Given the description of an element on the screen output the (x, y) to click on. 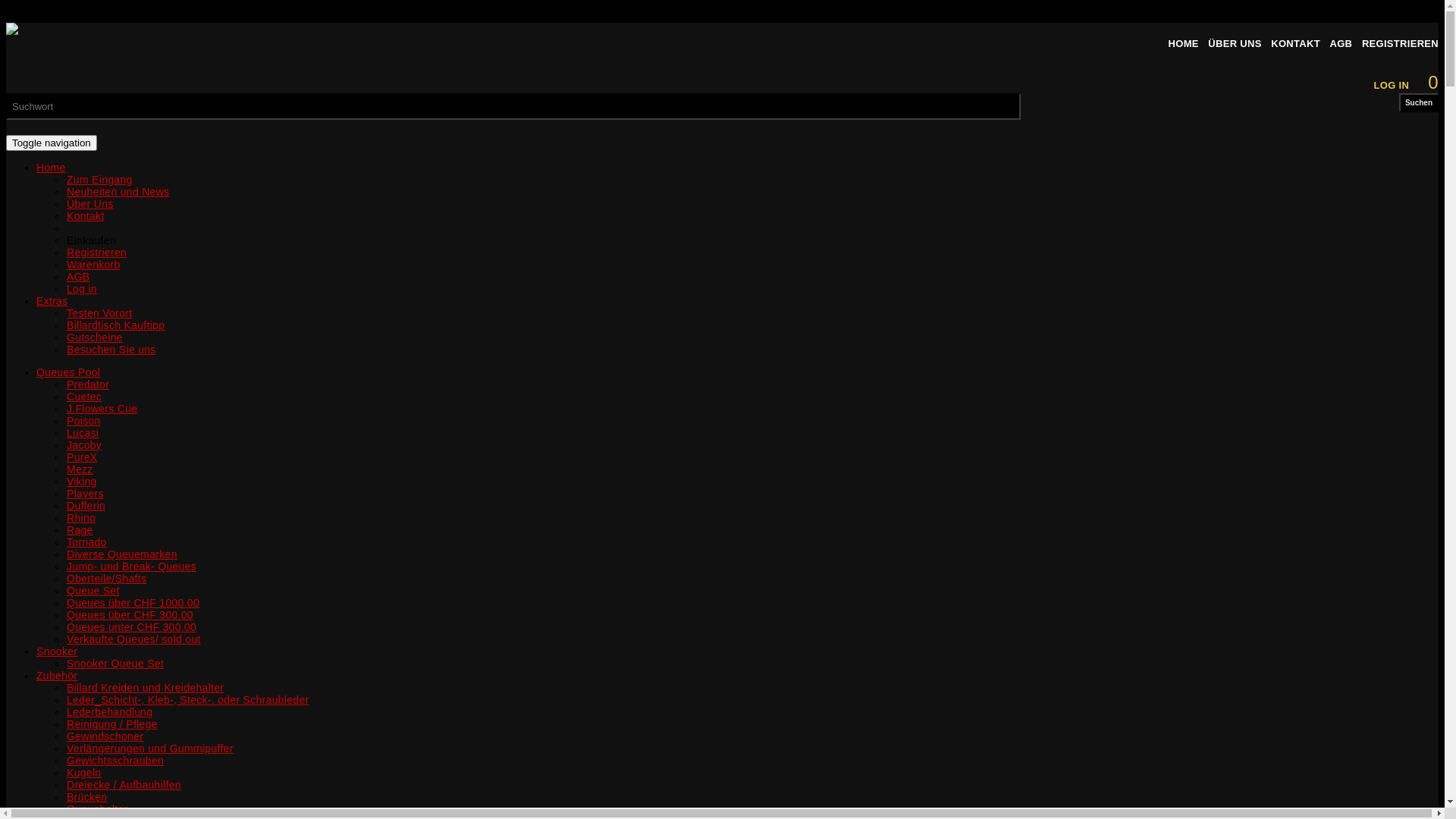
Predator Element type: text (87, 384)
Leder_Schicht-, Kleb-, Steck-. oder Schraubleder Element type: text (187, 699)
Kontakt Element type: text (85, 216)
Poison Element type: text (83, 420)
Cuetec Element type: text (83, 396)
Snooker Queue Set Element type: text (114, 663)
Rage Element type: text (79, 530)
Snooker Element type: text (56, 651)
Gewichtsschrauben Element type: text (114, 760)
Mezz Element type: text (79, 469)
Verkaufte Queues/ sold out Element type: text (133, 639)
Registrieren Element type: text (96, 252)
Billardtisch Kauftipp Element type: text (115, 325)
Queues Pool Element type: text (68, 372)
Diverse Queuemarken Element type: text (121, 554)
Dreiecke / Aufbauhilfen Element type: text (123, 784)
Queue Set Element type: text (92, 590)
Kugeln Element type: text (83, 772)
Players Element type: text (84, 493)
Jacoby Element type: text (83, 445)
Rhino Element type: text (80, 517)
Jump- und Break- Queues Element type: text (131, 566)
KONTAKT Element type: text (1295, 43)
Zum Eingang Element type: text (99, 179)
Neuheiten und News Element type: text (117, 191)
J.Flowers Cue Element type: text (101, 408)
Gutscheine Element type: text (94, 337)
0 Element type: text (1432, 82)
AGB Element type: text (1341, 43)
Lucasi Element type: text (82, 432)
Log in Element type: text (81, 288)
Gewindschoner Element type: text (104, 736)
Warenkorb Element type: text (93, 264)
Tornado Element type: text (86, 542)
Lederbehandlung Element type: text (109, 712)
LOG IN Element type: text (1391, 85)
PureX Element type: text (81, 457)
AGB Element type: text (77, 276)
Queues unter CHF 300.00 Element type: text (131, 627)
Toggle navigation Element type: text (51, 142)
Viking Element type: text (81, 481)
Billard Kreiden und Kreidehalter Element type: text (144, 687)
Queuehalter Element type: text (96, 809)
Suchen Element type: text (1418, 102)
Home Element type: text (50, 167)
Reinigung / Pflege Element type: text (111, 724)
Extras Element type: text (51, 300)
Testen Vorort Element type: text (98, 313)
REGISTRIEREN Element type: text (1399, 43)
Oberteile/Shafts Element type: text (106, 578)
HOME Element type: text (1183, 43)
Dufferin Element type: text (85, 505)
Besuchen Sie uns Element type: text (111, 349)
